Given the description of an element on the screen output the (x, y) to click on. 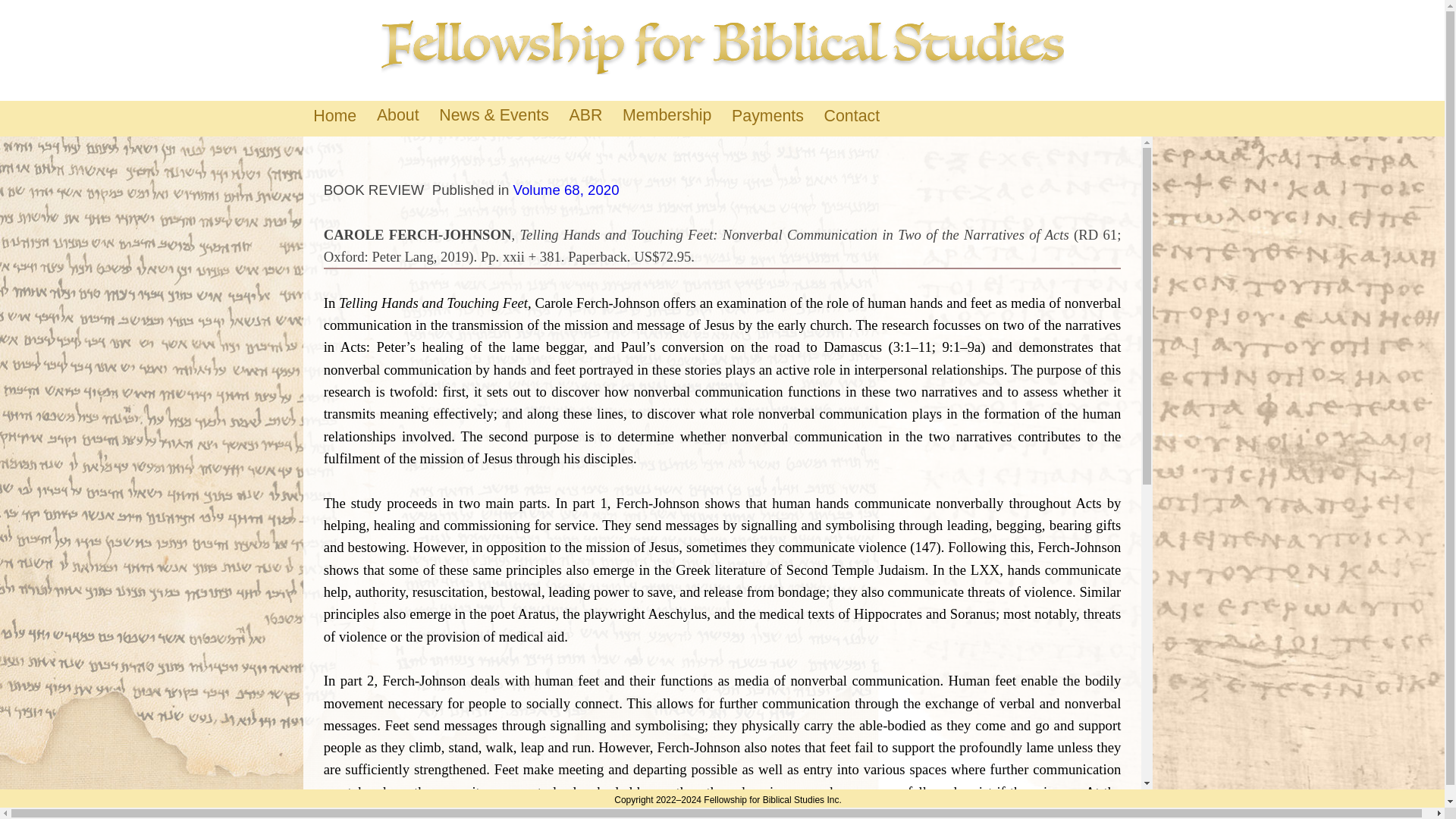
About (397, 114)
Payments (767, 117)
Membership (667, 114)
ABR (585, 114)
Home (334, 117)
Contact (851, 117)
Volume 68, 2020 (566, 189)
